Given the description of an element on the screen output the (x, y) to click on. 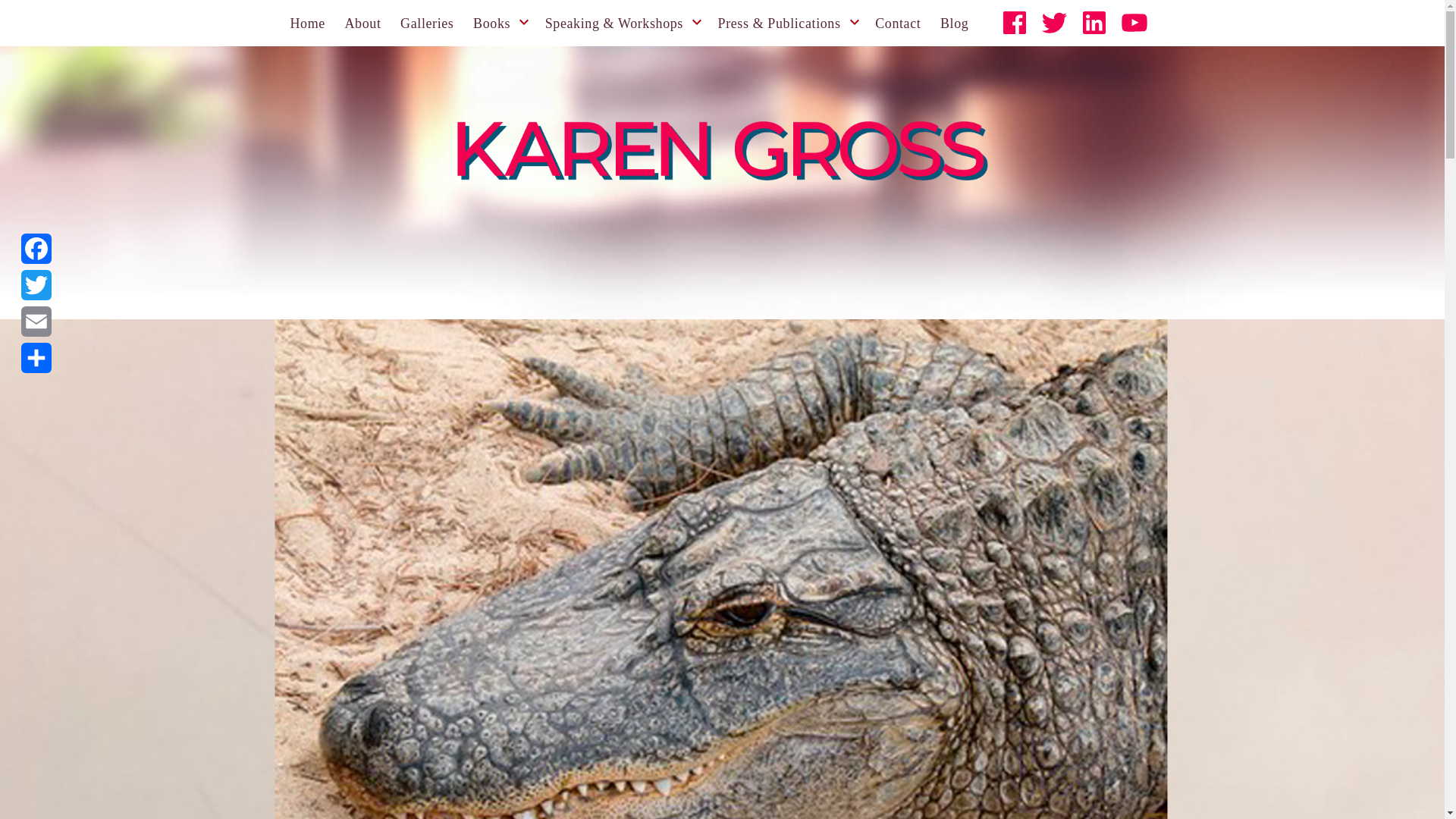
Home (306, 23)
About (361, 23)
Galleries (426, 23)
Books (492, 23)
Email (36, 321)
Facebook (36, 248)
Twitter (36, 284)
